Given the description of an element on the screen output the (x, y) to click on. 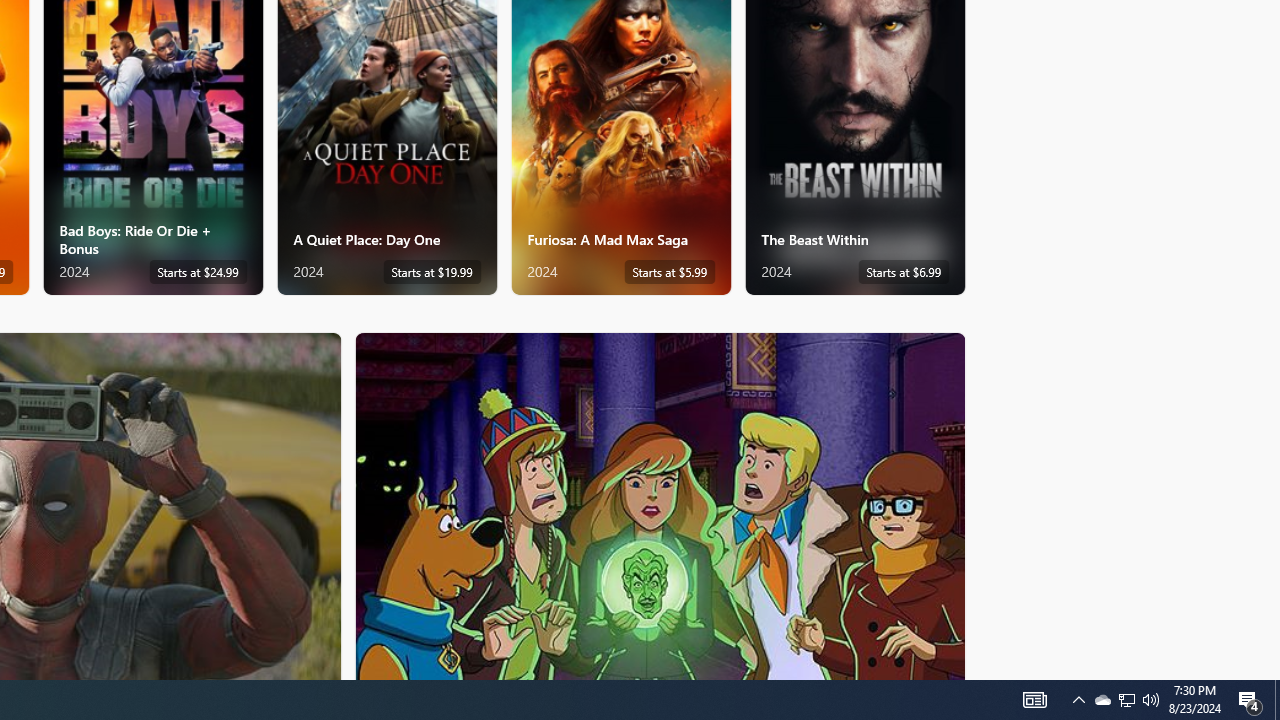
Family (660, 505)
AutomationID: PosterImage (658, 505)
